Given the description of an element on the screen output the (x, y) to click on. 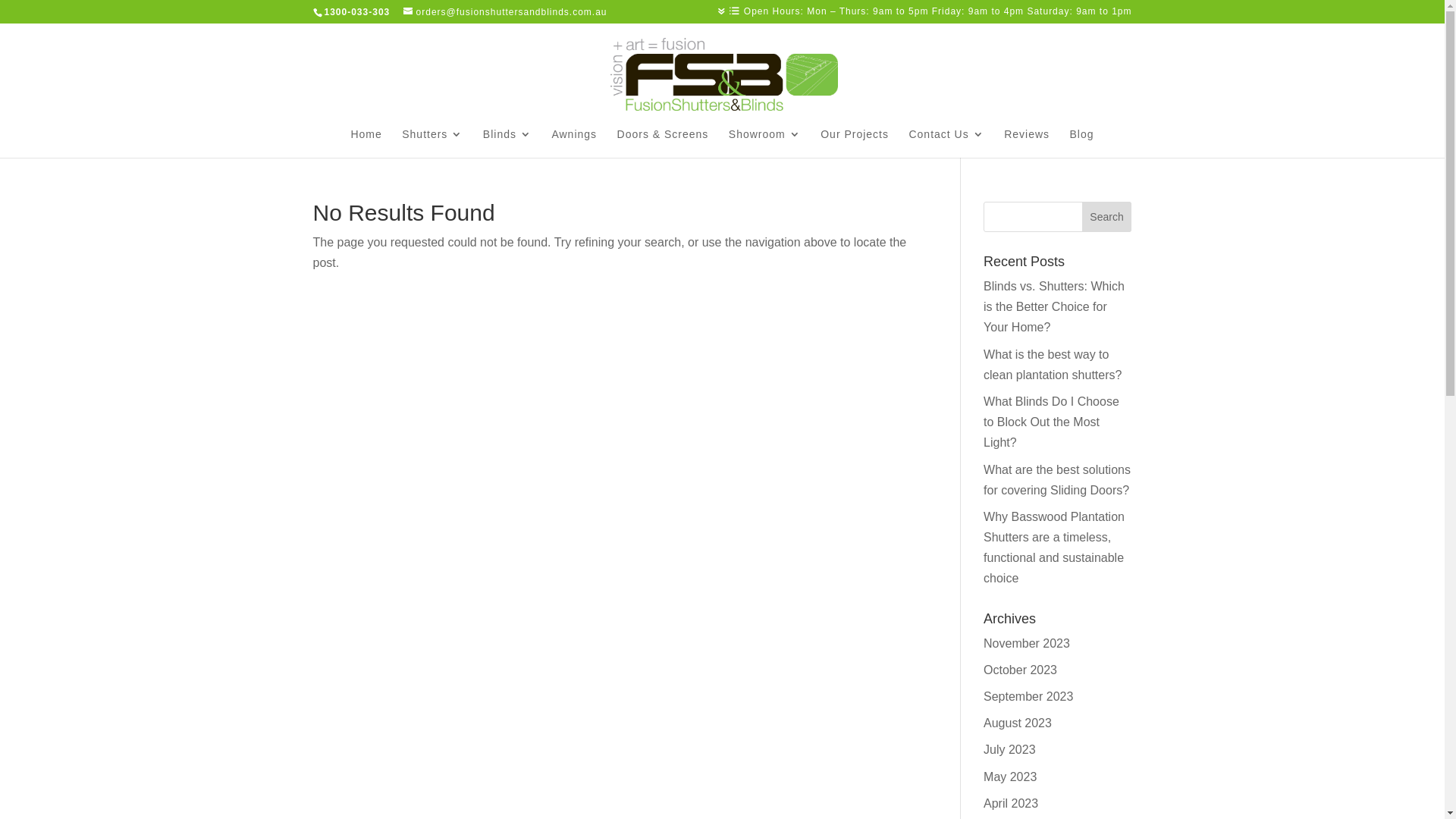
What is the best way to clean plantation shutters? Element type: text (1052, 364)
orders@fusionshuttersandblinds.com.au Element type: text (505, 11)
April 2023 Element type: text (1010, 803)
Our Projects Element type: text (854, 142)
Reviews Element type: text (1026, 142)
November 2023 Element type: text (1026, 643)
Awnings Element type: text (573, 142)
Shutters Element type: text (431, 142)
Blinds Element type: text (507, 142)
May 2023 Element type: text (1009, 776)
October 2023 Element type: text (1020, 669)
What Blinds Do I Choose to Block Out the Most Light? Element type: text (1051, 421)
July 2023 Element type: text (1009, 749)
Showroom Element type: text (764, 142)
Blog Element type: text (1082, 142)
September 2023 Element type: text (1028, 696)
What are the best solutions for covering Sliding Doors? Element type: text (1056, 478)
August 2023 Element type: text (1017, 722)
Search Element type: text (1107, 216)
Home Element type: text (365, 142)
Contact Us Element type: text (945, 142)
Doors & Screens Element type: text (663, 142)
